Given the description of an element on the screen output the (x, y) to click on. 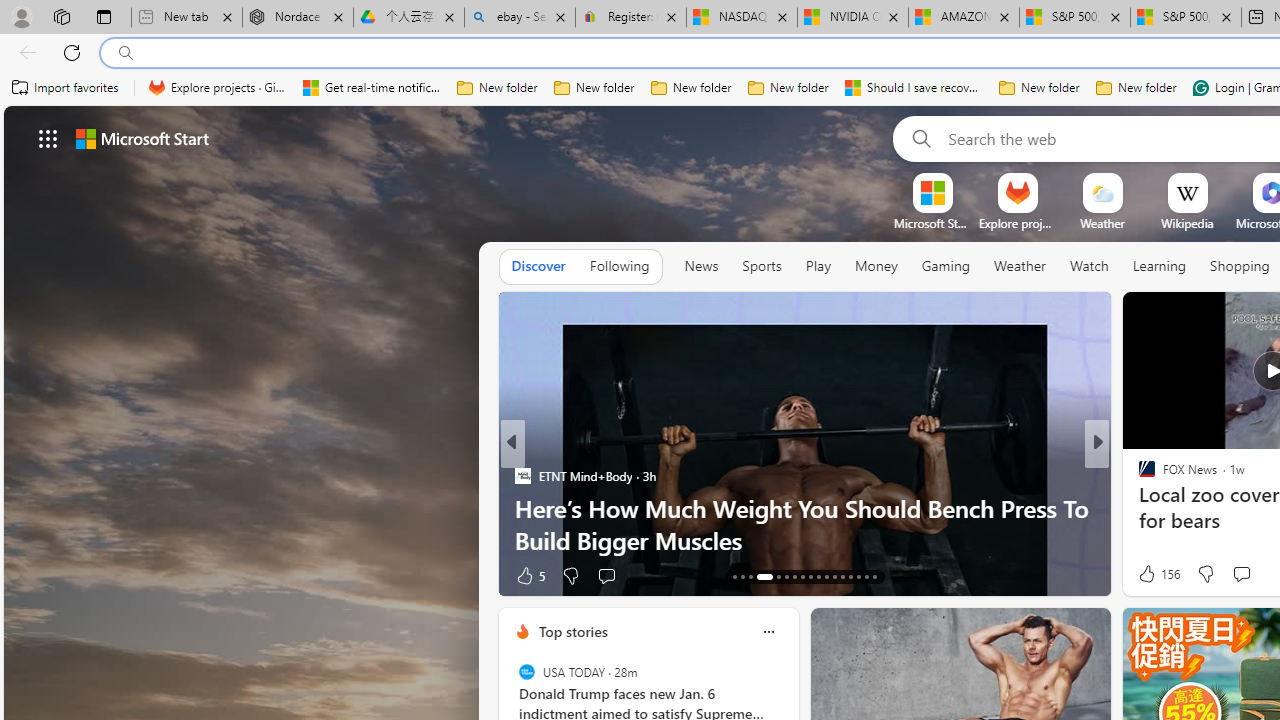
New folder (1136, 88)
View comments 75 Comment (1244, 574)
AutomationID: tab-13 (733, 576)
CNN (1138, 475)
AutomationID: tab-15 (750, 576)
AutomationID: tab-18 (786, 576)
AutomationID: tab-17 (778, 576)
AutomationID: tab-28 (865, 576)
Windows Central (1138, 475)
